Given the description of an element on the screen output the (x, y) to click on. 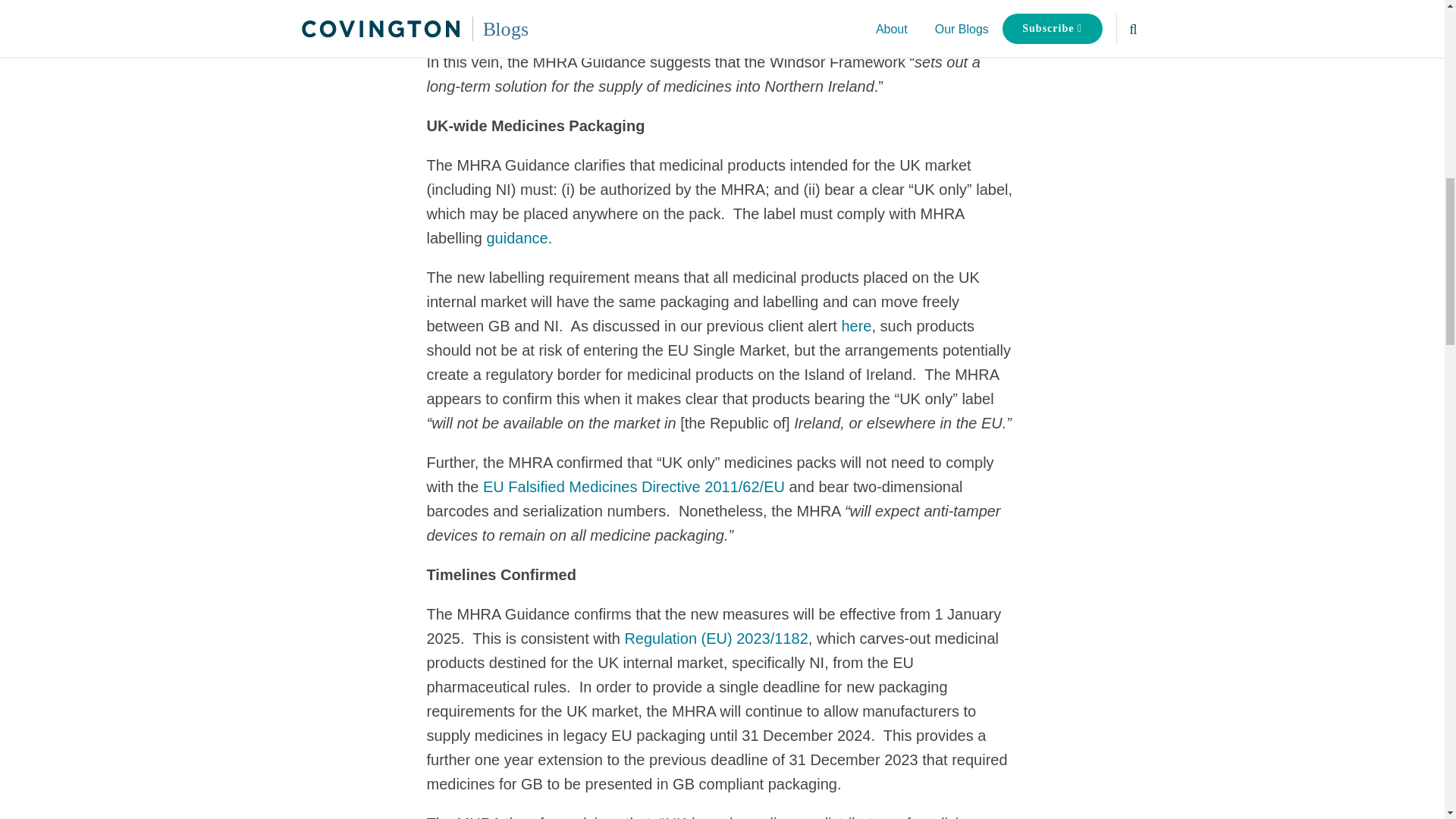
guidance (516, 238)
here (855, 325)
